Given the description of an element on the screen output the (x, y) to click on. 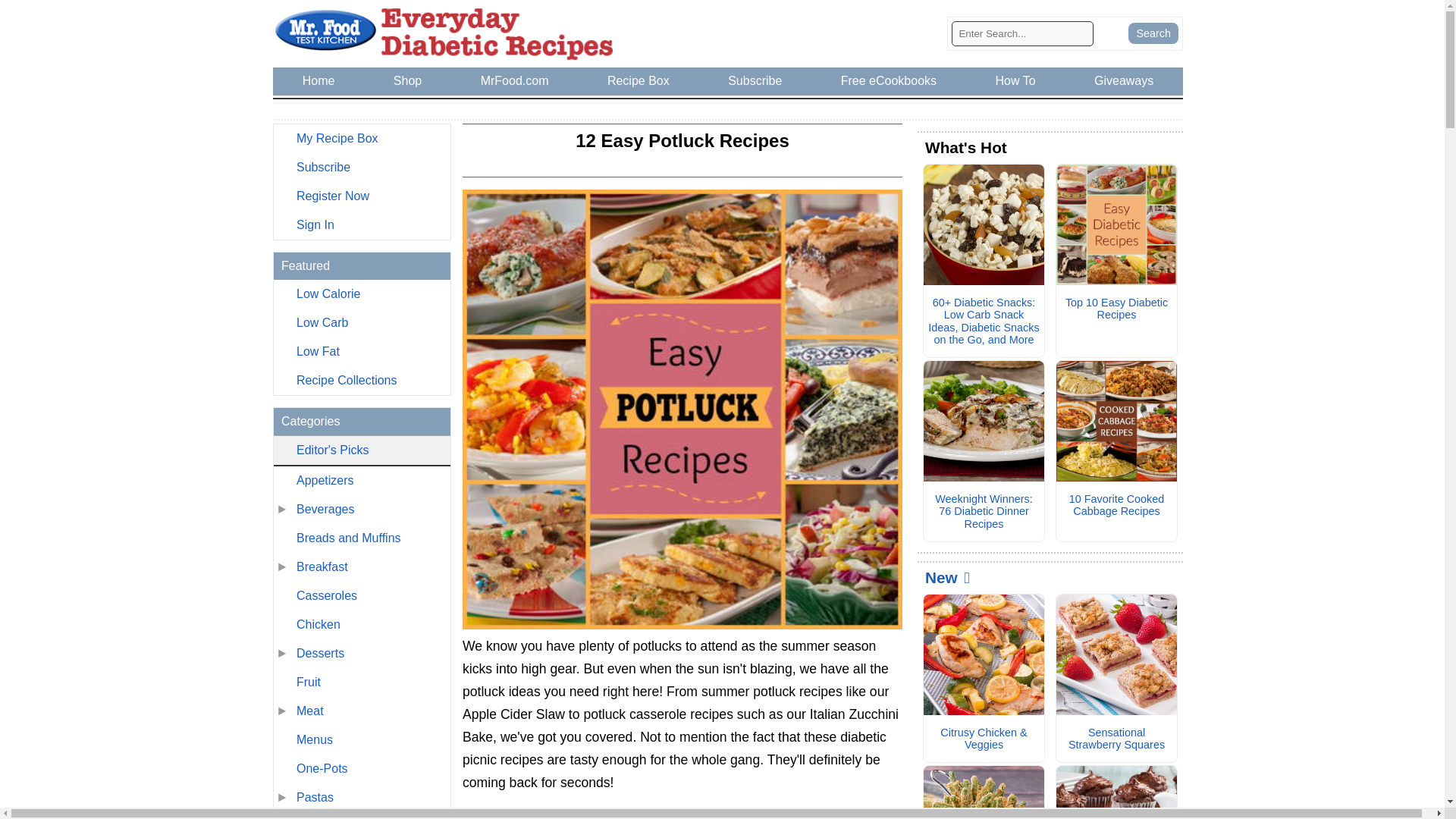
Apple Cider Slaw (568, 814)
Register Now (361, 195)
Subscribe (361, 167)
Search (1152, 33)
Sign In (361, 224)
My Recipe Box (361, 138)
Un-Beet-Able Potato Salad (796, 814)
